Given the description of an element on the screen output the (x, y) to click on. 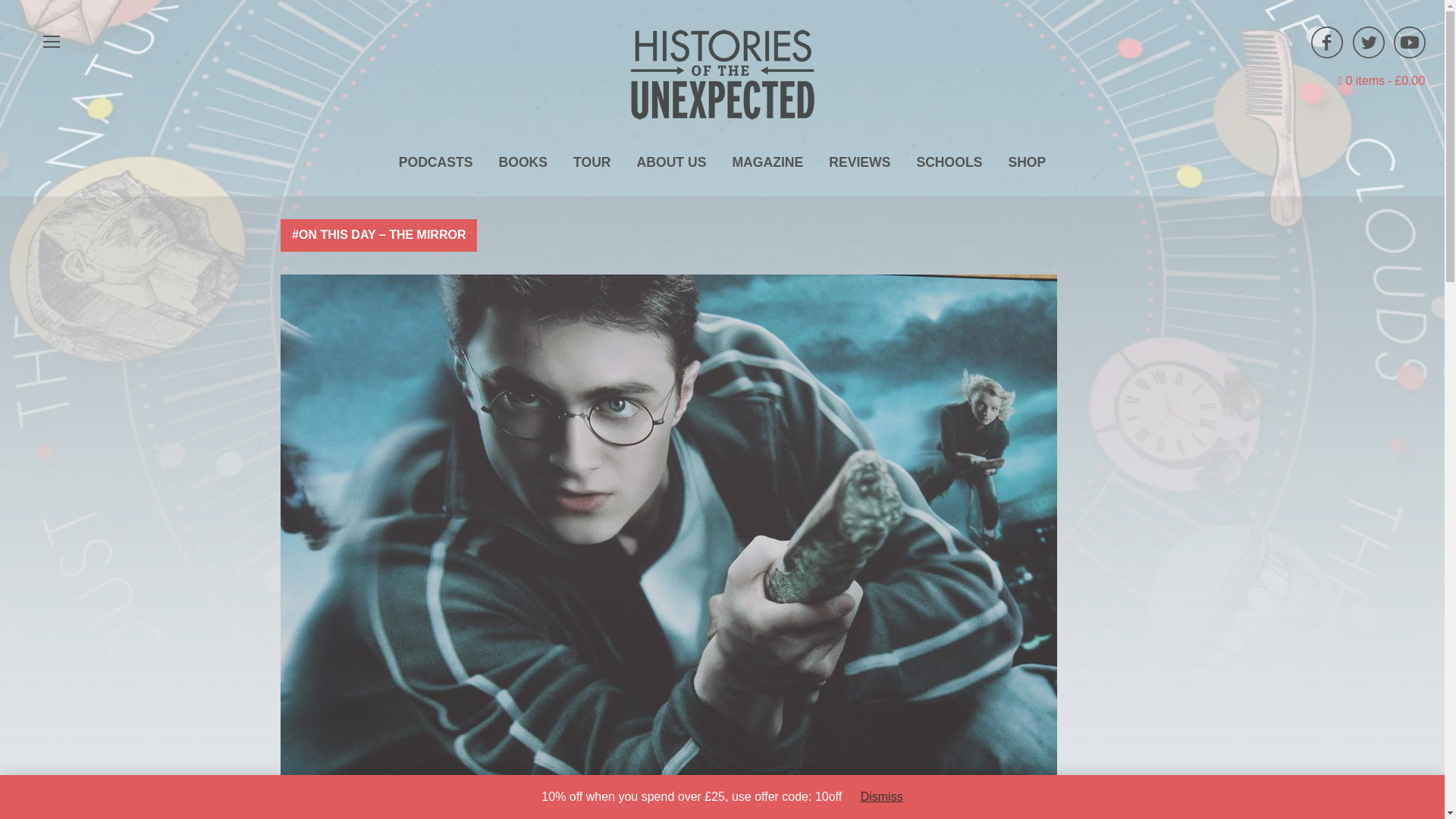
Start shopping (1381, 80)
PODCASTS (435, 162)
REVIEWS (858, 162)
ABOUT US (671, 162)
SHOP (1026, 162)
SCHOOLS (948, 162)
